Given the description of an element on the screen output the (x, y) to click on. 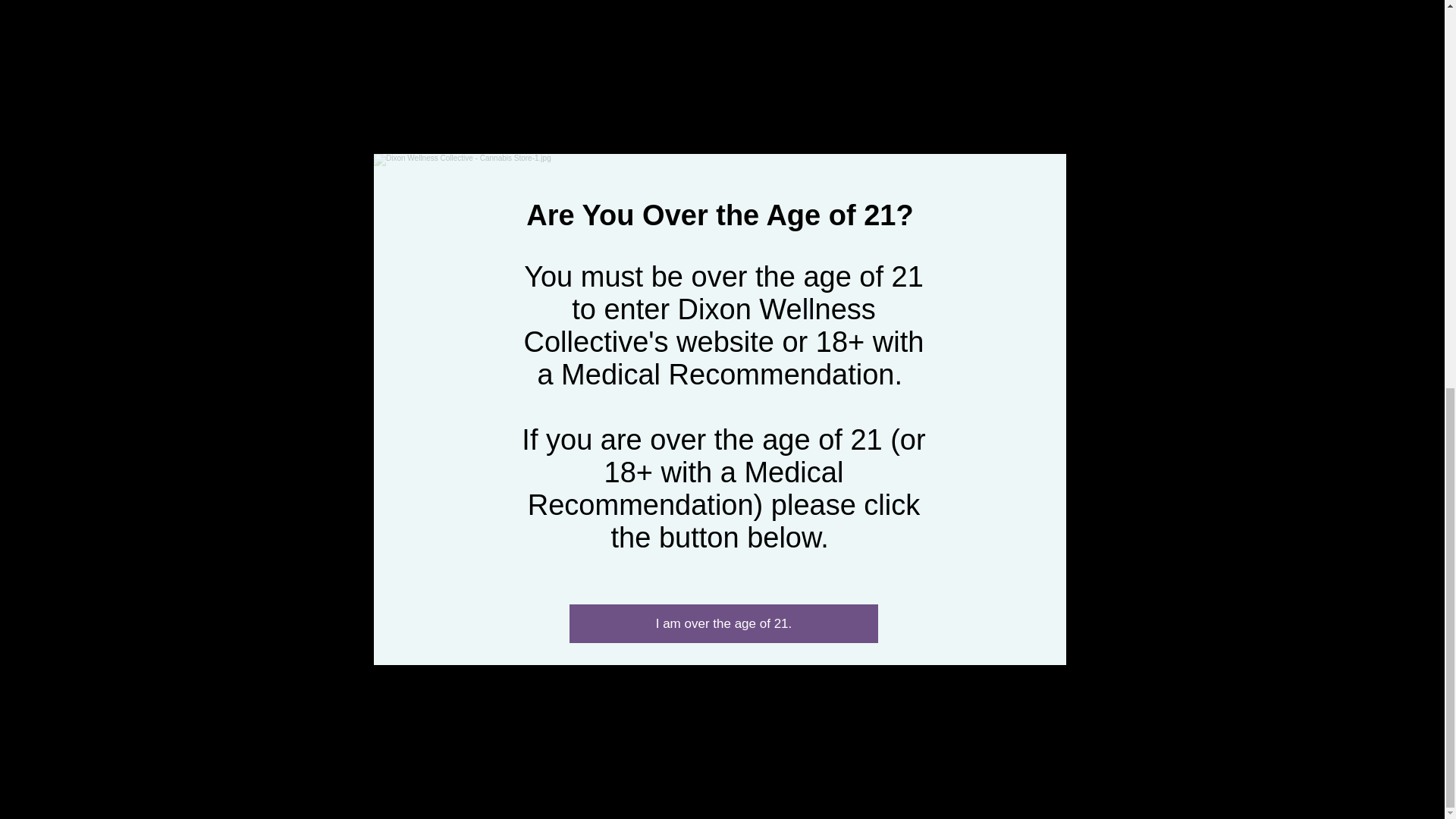
See All (1061, 339)
0 (931, 576)
What Makes A Good Cannabis Dispensary? (721, 522)
0 (691, 576)
CONTACT (715, 678)
Post not marked as liked (558, 576)
Post not marked as liked (1050, 576)
CALENDAR (715, 693)
ABOUT (715, 649)
Accessibility Statement (772, 773)
Terms and Conditions (636, 766)
Post not marked as liked (804, 576)
Privacy Policy (742, 766)
0 (440, 576)
